Given the description of an element on the screen output the (x, y) to click on. 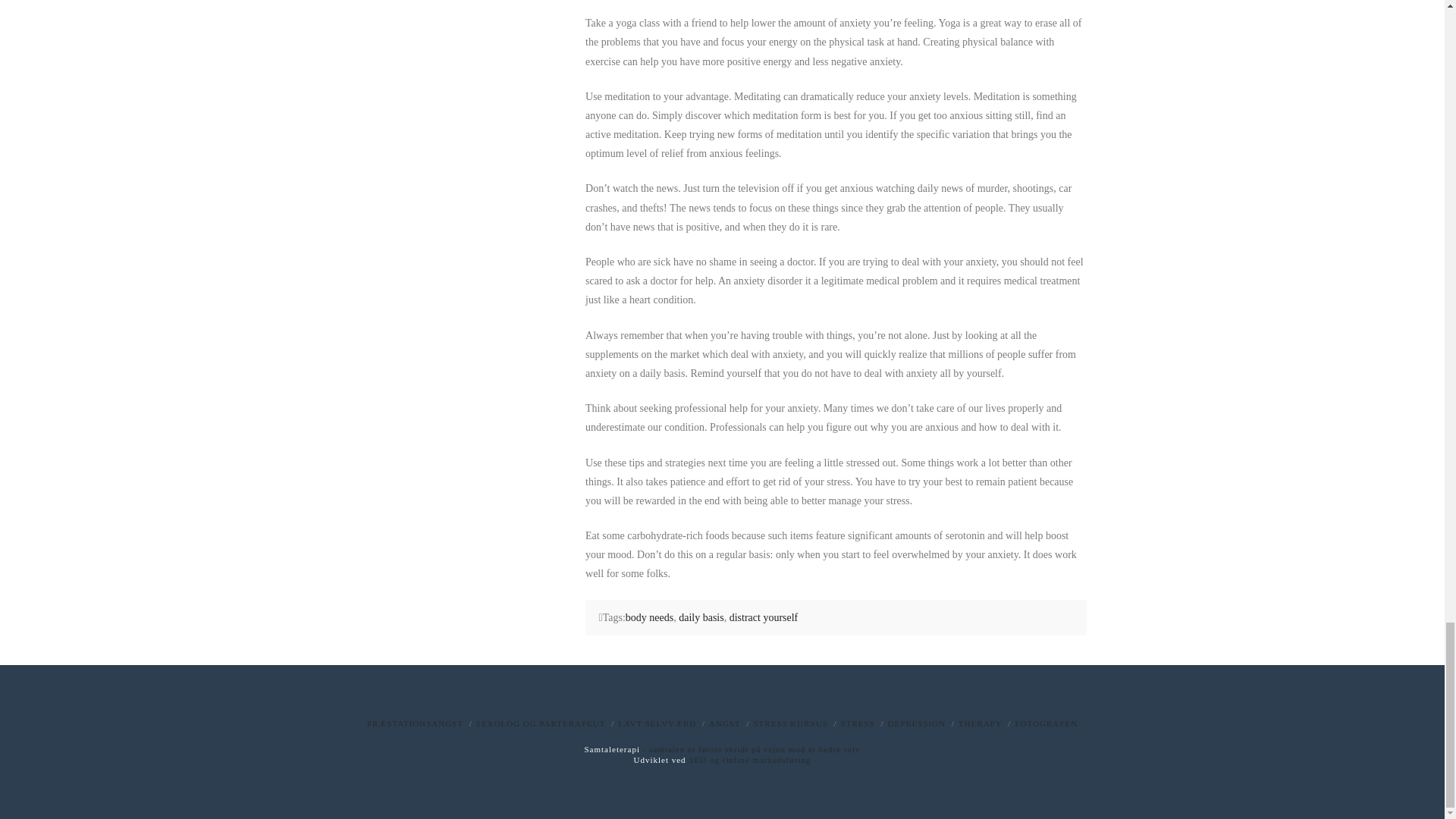
SEO (749, 759)
daily basis (700, 617)
distract yourself (763, 617)
body needs (649, 617)
samtaleterapi (750, 748)
